Given the description of an element on the screen output the (x, y) to click on. 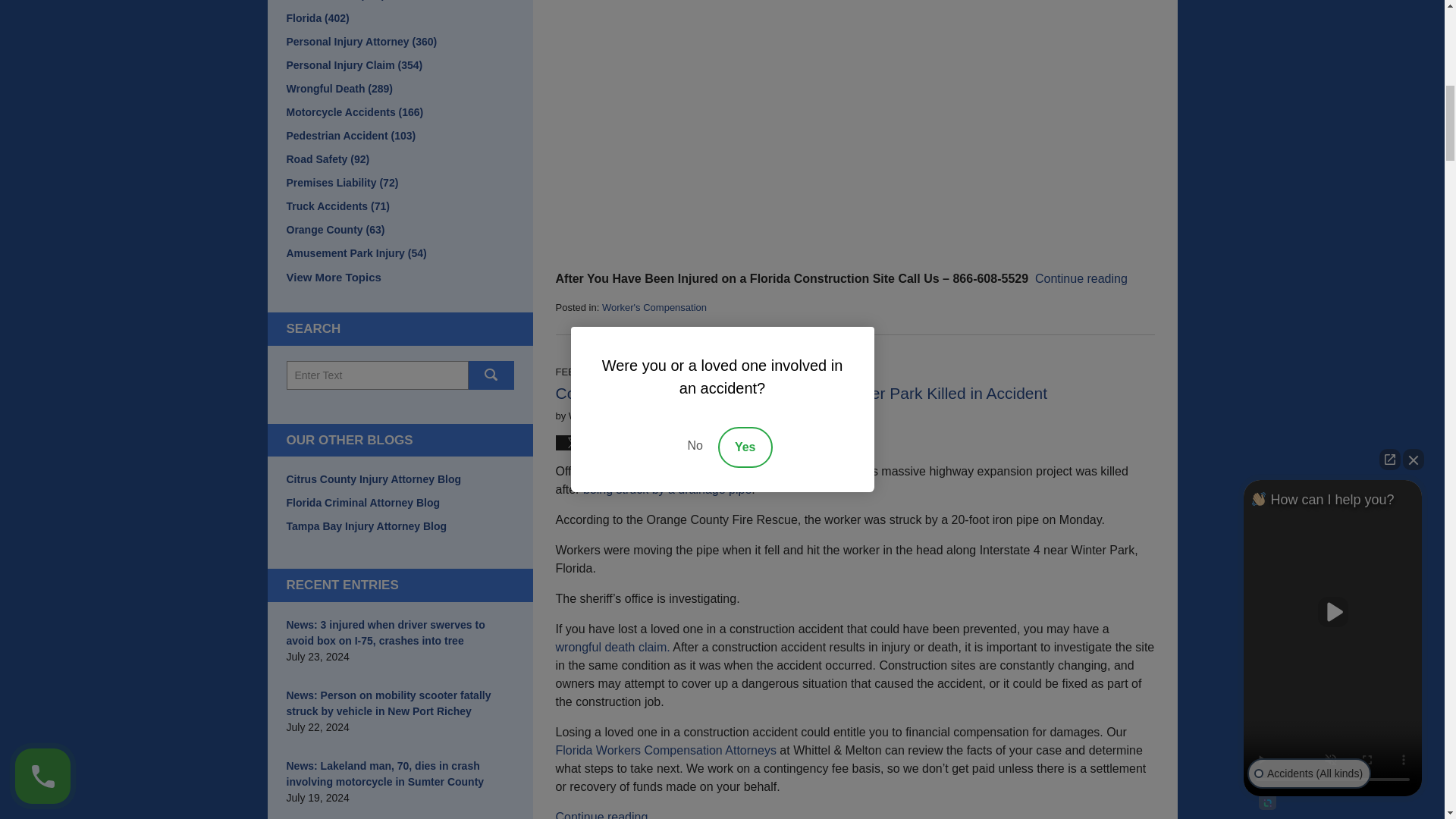
Worker's Compensation (654, 307)
wrongful death claim. (611, 646)
being struck by a drainage pipe (667, 489)
View all posts in Worker's Compensation (654, 307)
Continue reading (1080, 278)
Continue reading (600, 814)
Florida Workers Compensation Attorneys (665, 749)
